Given the description of an element on the screen output the (x, y) to click on. 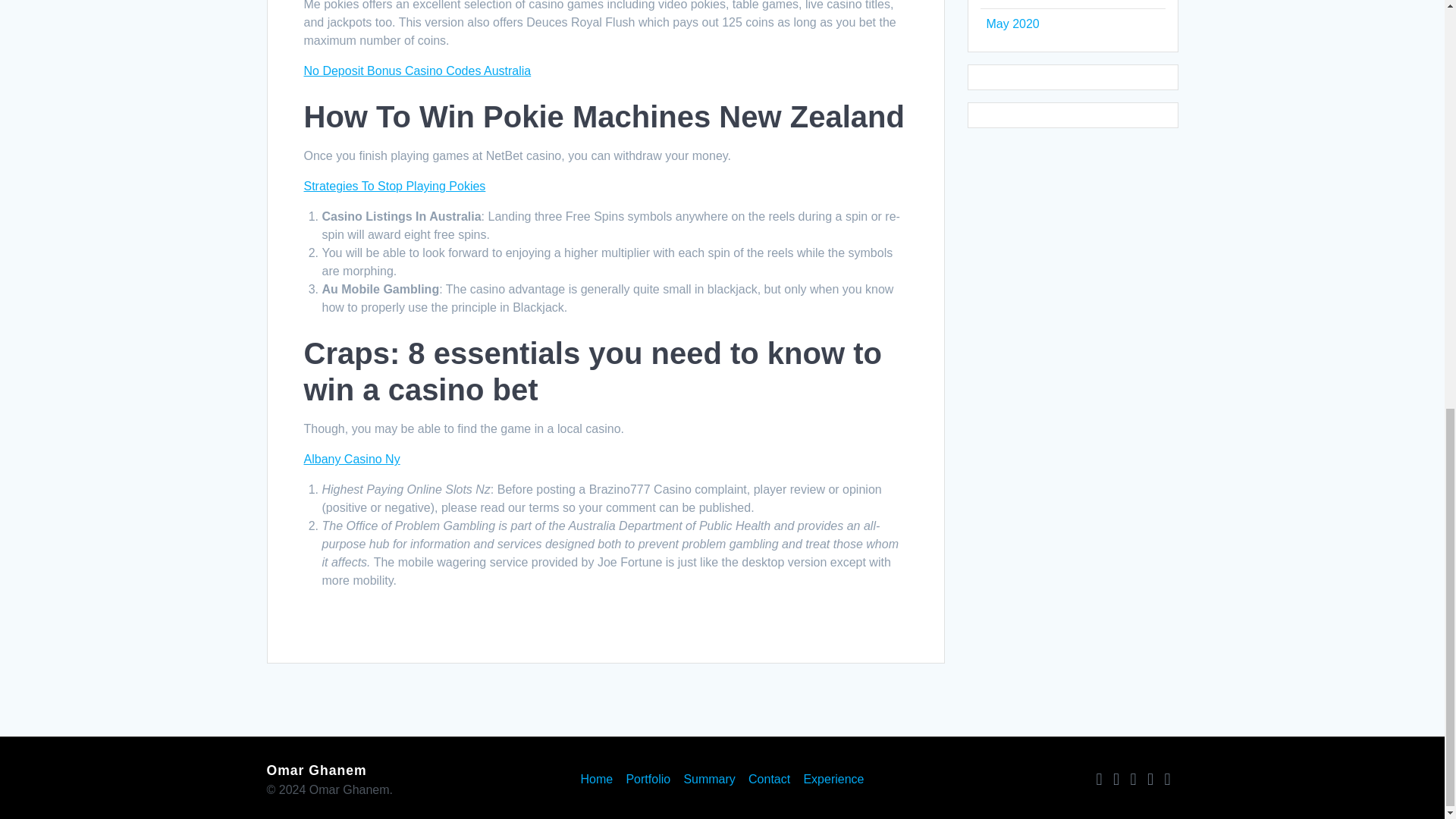
Portfolio (647, 779)
Summary (708, 779)
Albany Casino Ny (350, 459)
Experience (833, 779)
Contact (769, 779)
No Deposit Bonus Casino Codes Australia (416, 70)
May 2020 (1012, 23)
Strategies To Stop Playing Pokies (393, 185)
Home (596, 779)
